Given the description of an element on the screen output the (x, y) to click on. 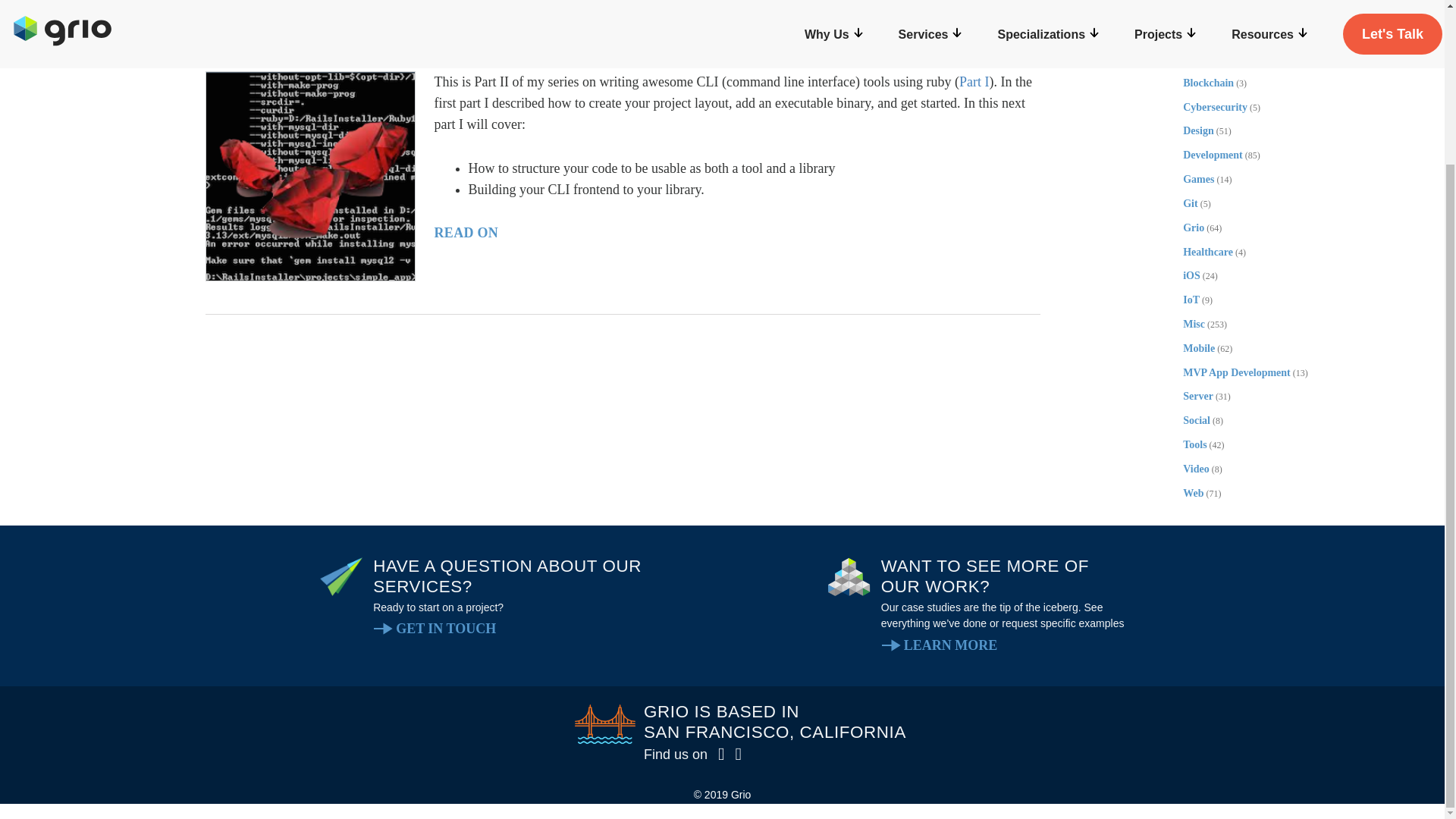
Permalink to Writing Awesome CLI Tools in Ruby: Part II (623, 6)
View all posts by Ryan Schultz (296, 36)
